Given the description of an element on the screen output the (x, y) to click on. 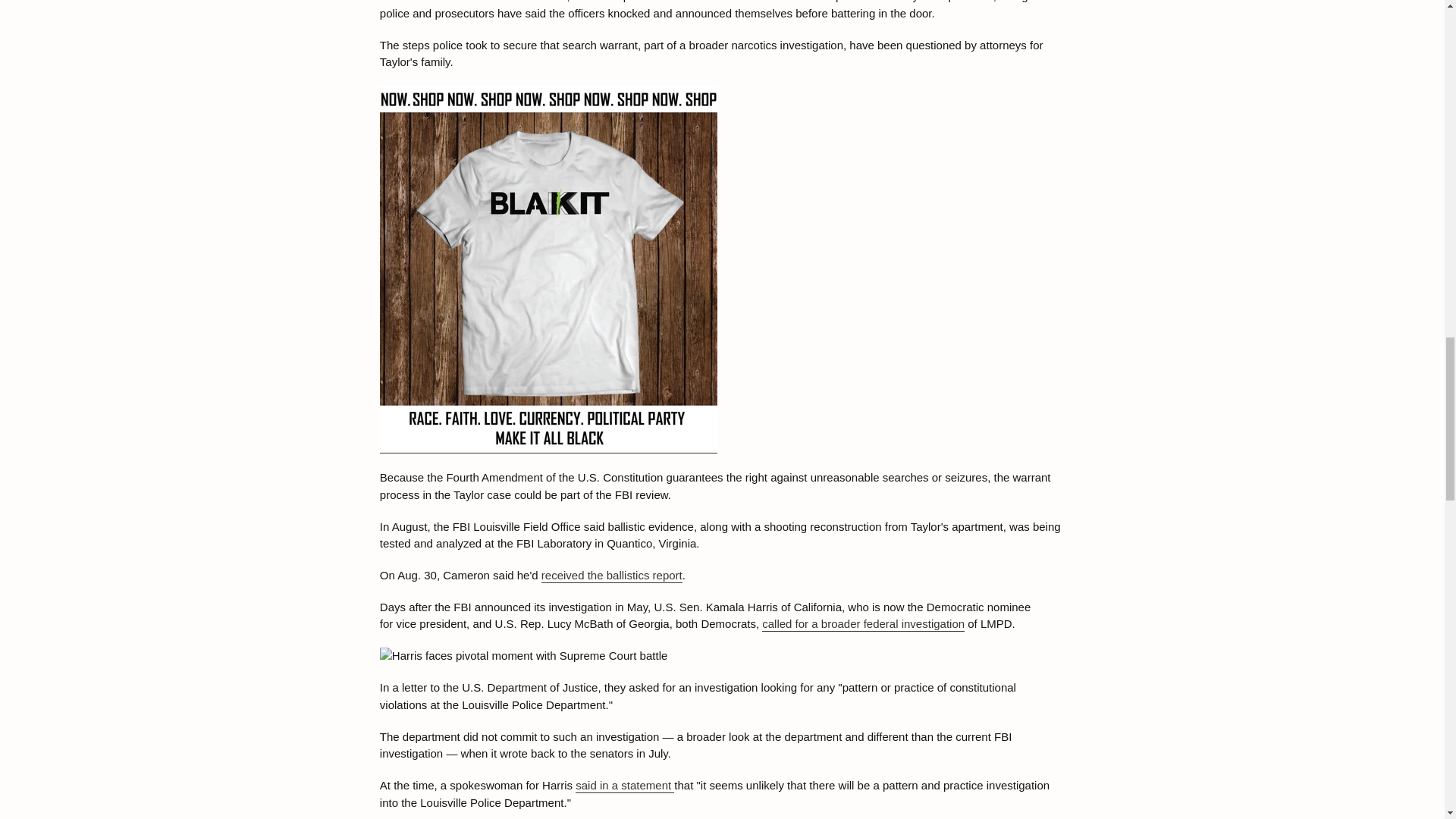
received the ballistics report (611, 575)
called for a broader federal investigation (862, 624)
said in a statement  (624, 785)
